Given the description of an element on the screen output the (x, y) to click on. 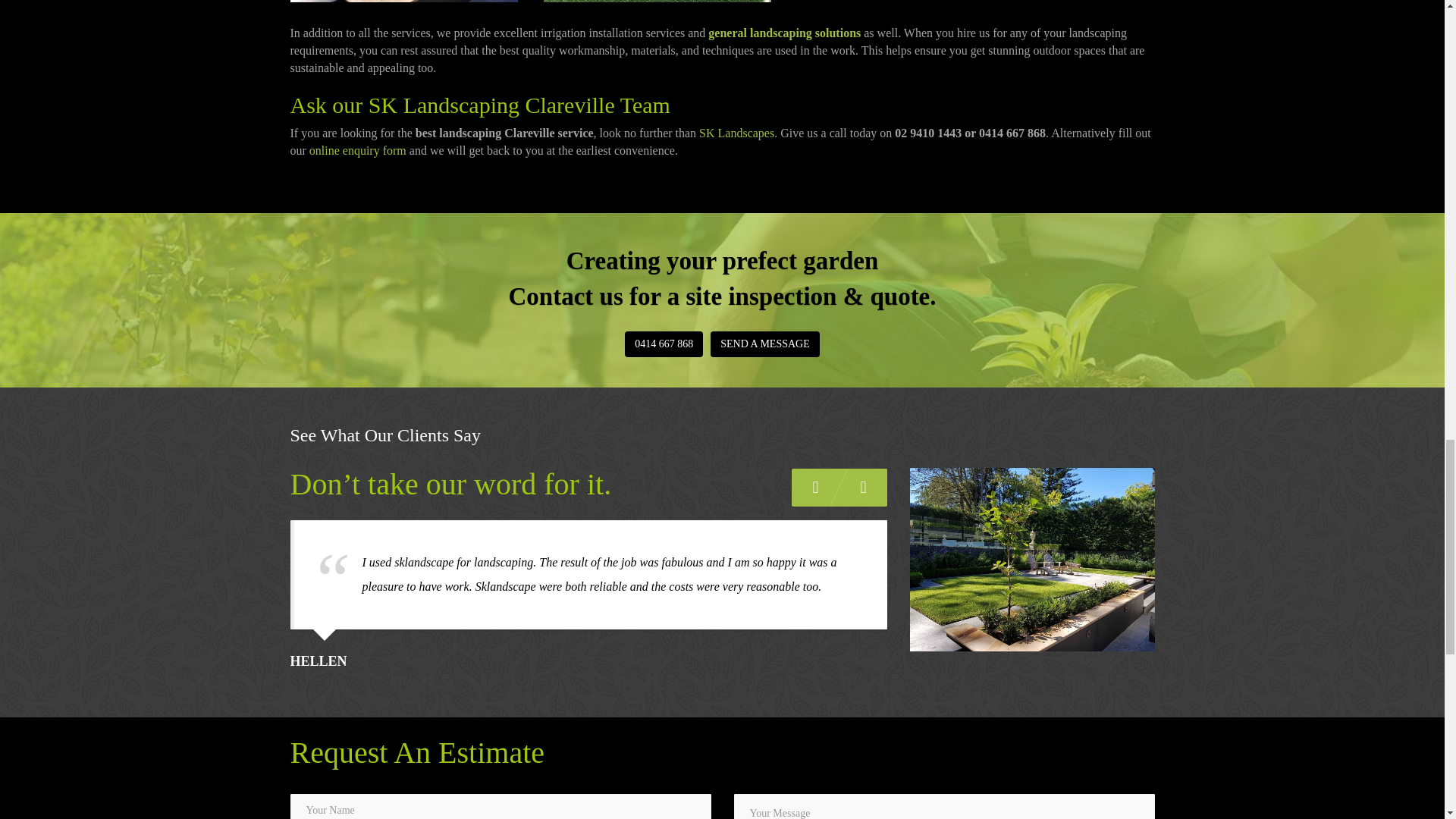
Next (863, 487)
SK Landscapes (736, 132)
0414 667 868 (663, 344)
general landscaping solutions (783, 32)
SEND A MESSAGE (764, 344)
online enquiry form (357, 150)
Previous (816, 487)
